Given the description of an element on the screen output the (x, y) to click on. 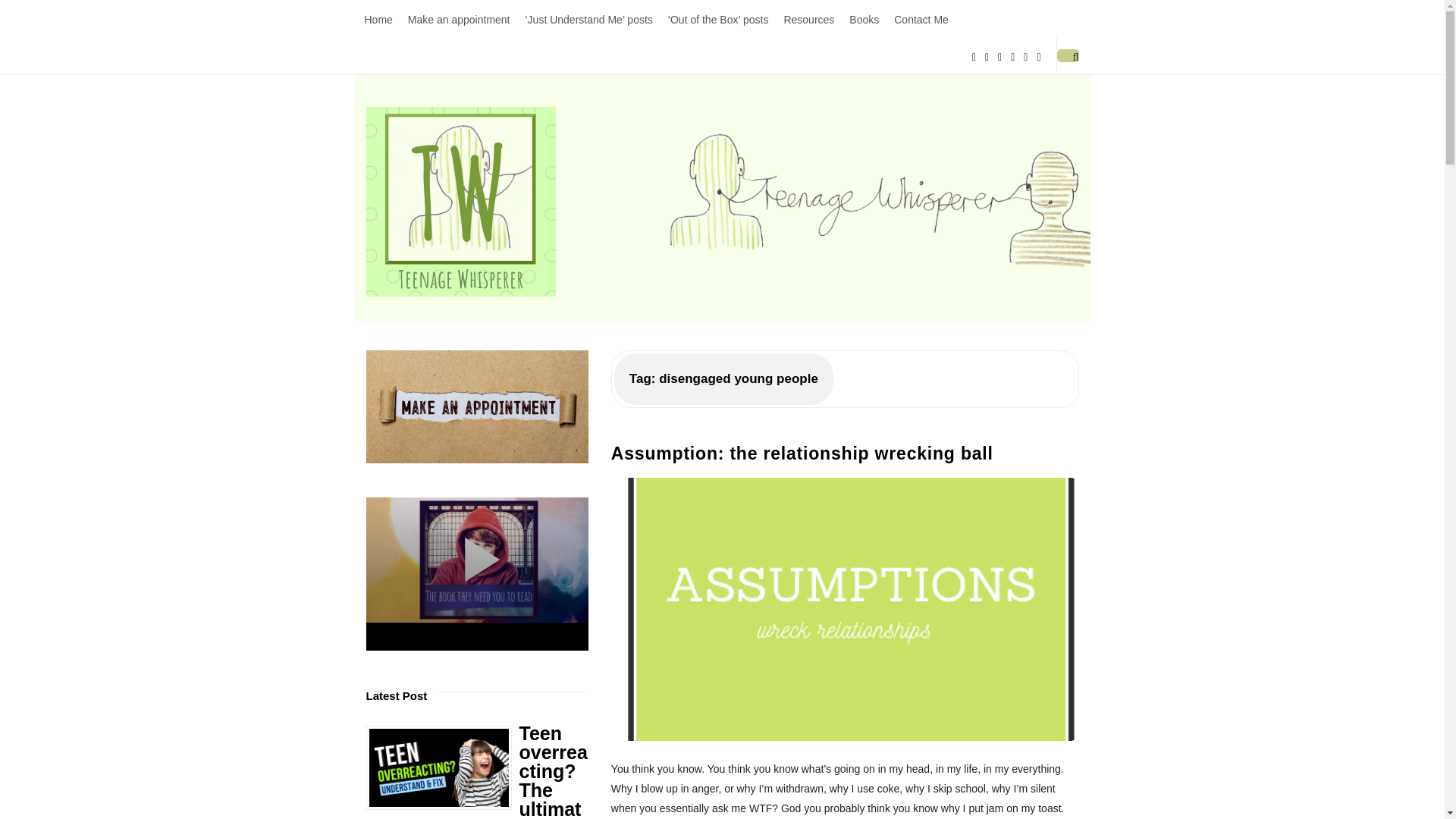
Assumption: the relationship wrecking ball (844, 609)
Home (377, 18)
Contact Me (921, 18)
Assumption: the relationship wrecking ball (801, 453)
Resources (808, 18)
Make an appointment (459, 18)
Books (863, 18)
